Given the description of an element on the screen output the (x, y) to click on. 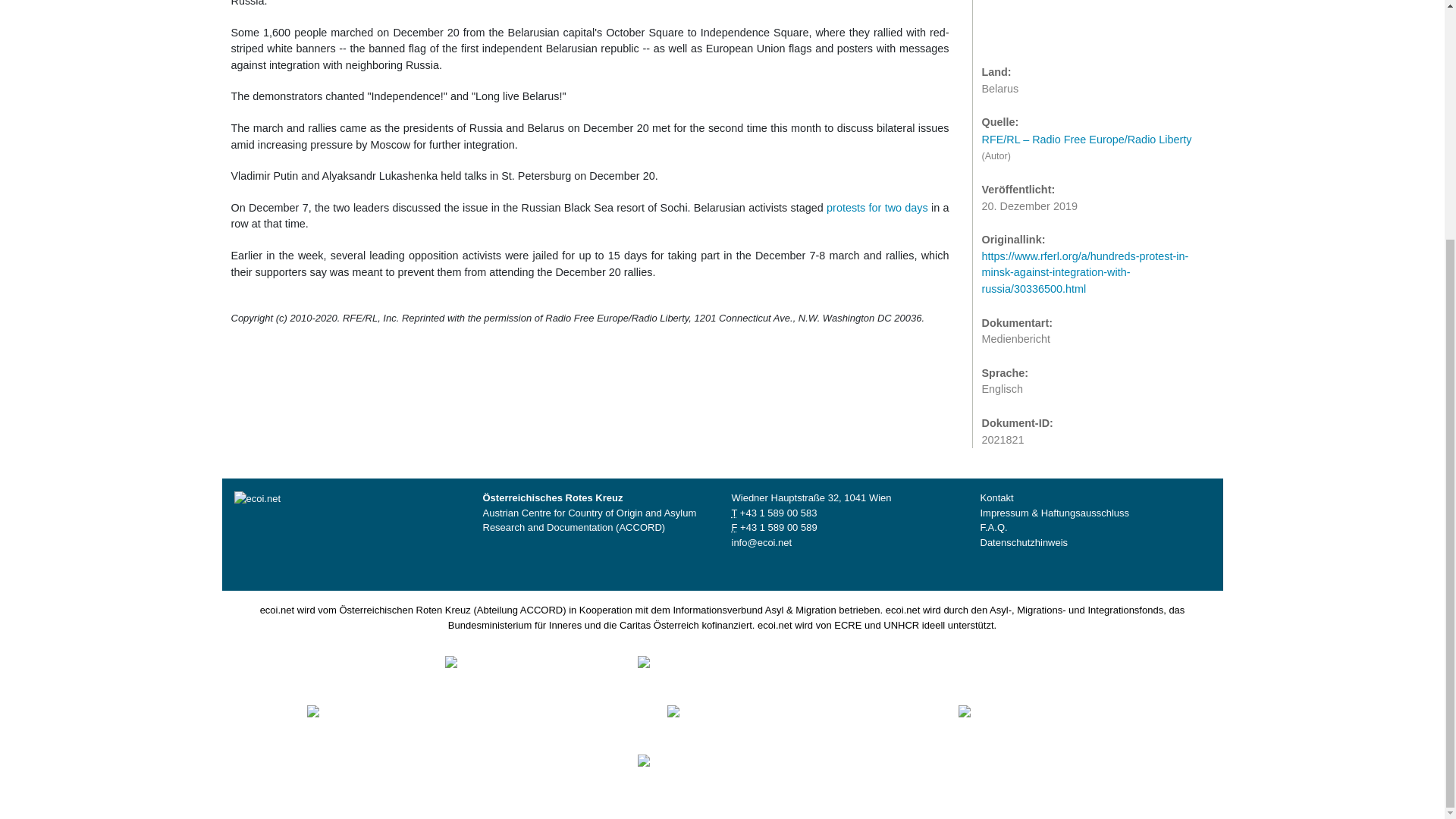
F.A.Q. (993, 527)
Permalink (1056, 20)
Quellenbeschreibung lesen (1094, 127)
Telefon (777, 512)
Datenschutzhinweis (1023, 542)
Zitieren als (996, 20)
protests for two days (877, 207)
UNHCR - The UN Refugee Agency (733, 769)
Fax (777, 527)
Kontakt (996, 497)
Teilen (1026, 20)
